Given the description of an element on the screen output the (x, y) to click on. 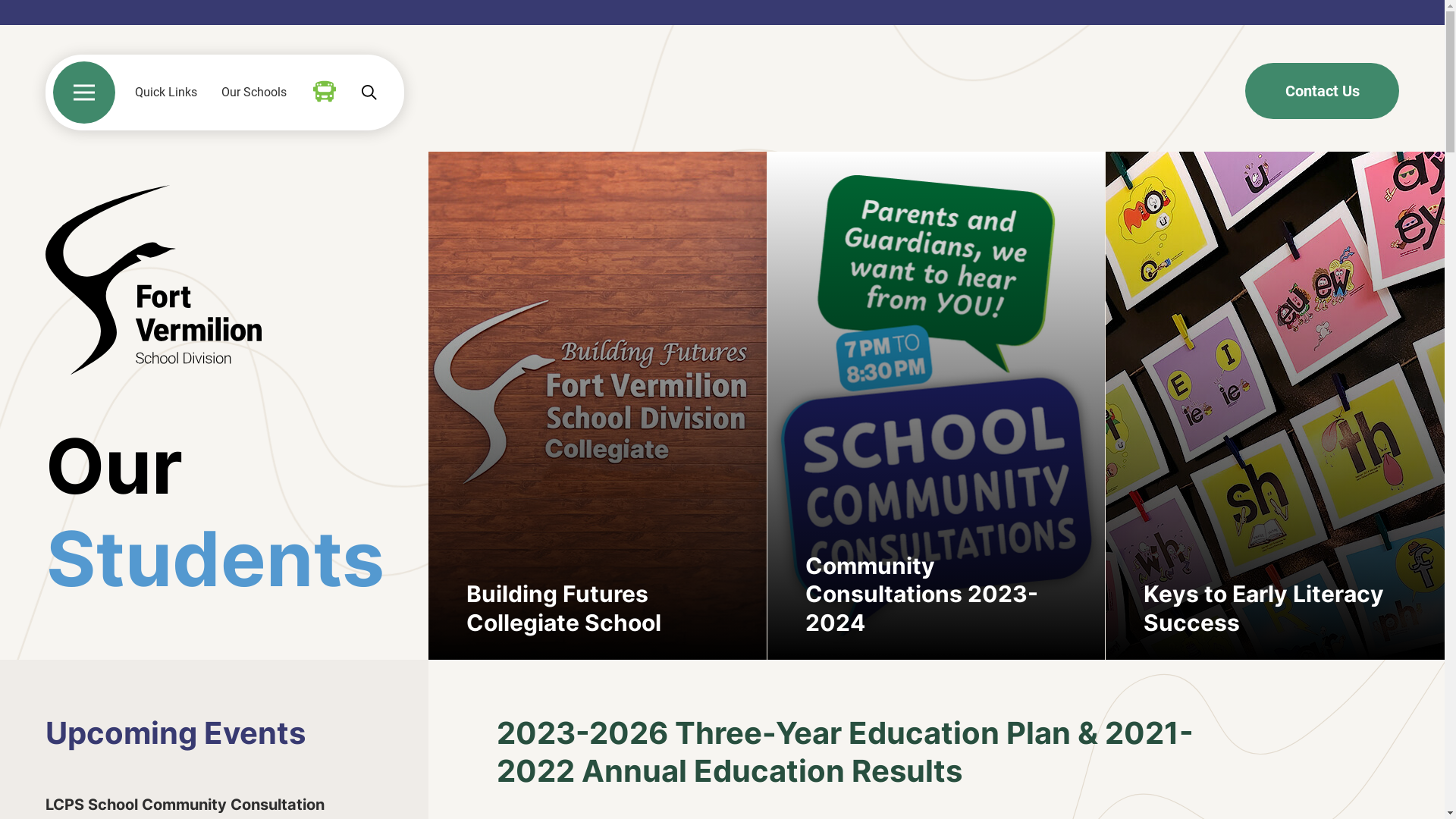
Menu Element type: text (84, 92)
Bus Status Element type: hover (324, 91)
Contact Us Element type: text (1322, 90)
Building Futures Collegiate School Element type: text (597, 405)
Quick Links Element type: text (165, 92)
Toggle Search Element type: text (369, 92)
Keys to Early Literacy Success Element type: text (1274, 405)
Community Consultations 2023-2024 Element type: text (936, 405)
Our Schools Element type: text (253, 92)
